Given the description of an element on the screen output the (x, y) to click on. 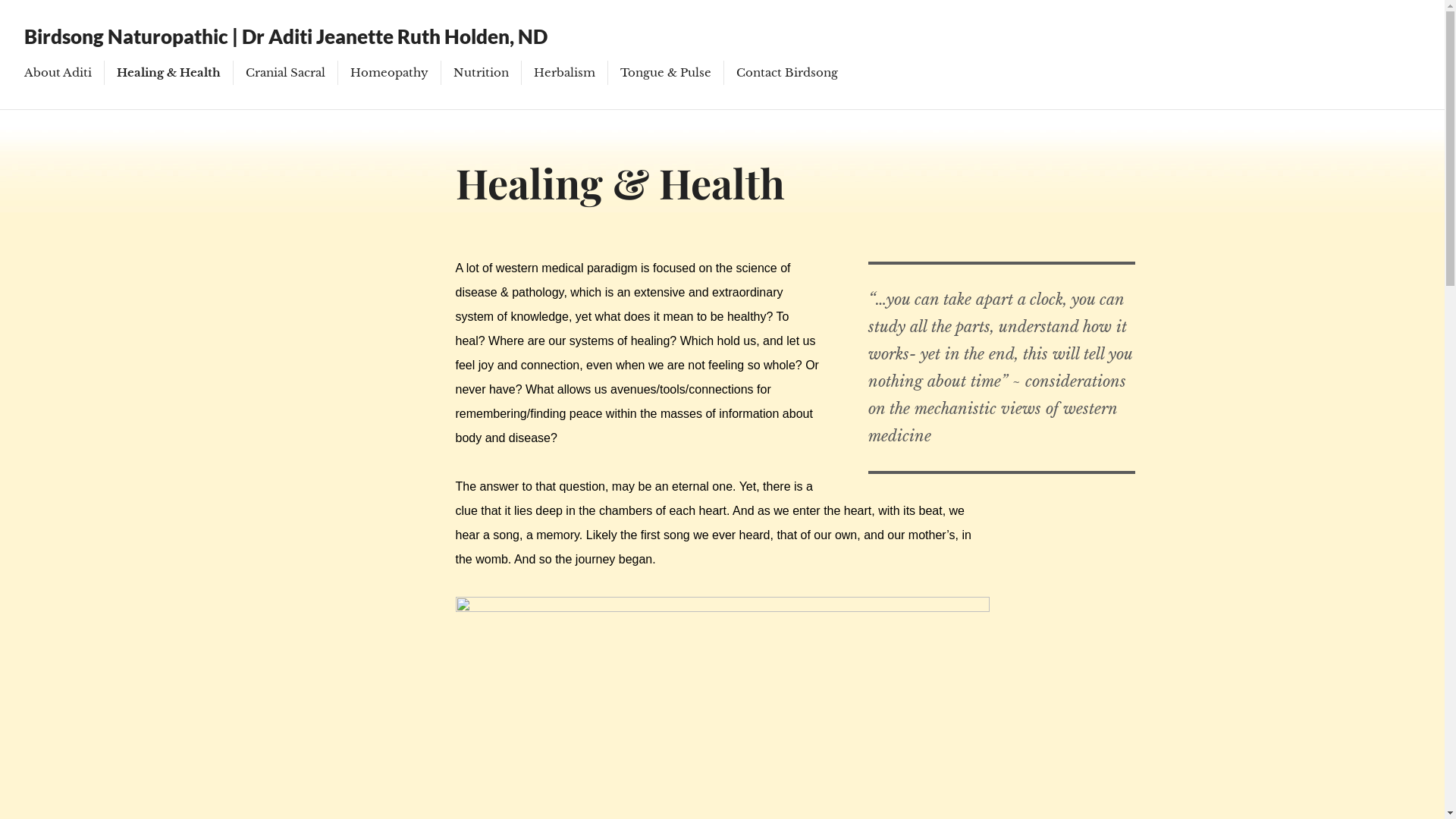
Herbalism Element type: text (564, 72)
Homeopathy Element type: text (389, 72)
Tongue & Pulse Element type: text (665, 72)
Healing & Health Element type: text (168, 72)
Nutrition Element type: text (480, 72)
Cranial Sacral Element type: text (285, 72)
About Aditi Element type: text (57, 72)
Birdsong Naturopathic | Dr Aditi Jeanette Ruth Holden, ND Element type: text (285, 36)
Contact Birdsong Element type: text (787, 72)
